Given the description of an element on the screen output the (x, y) to click on. 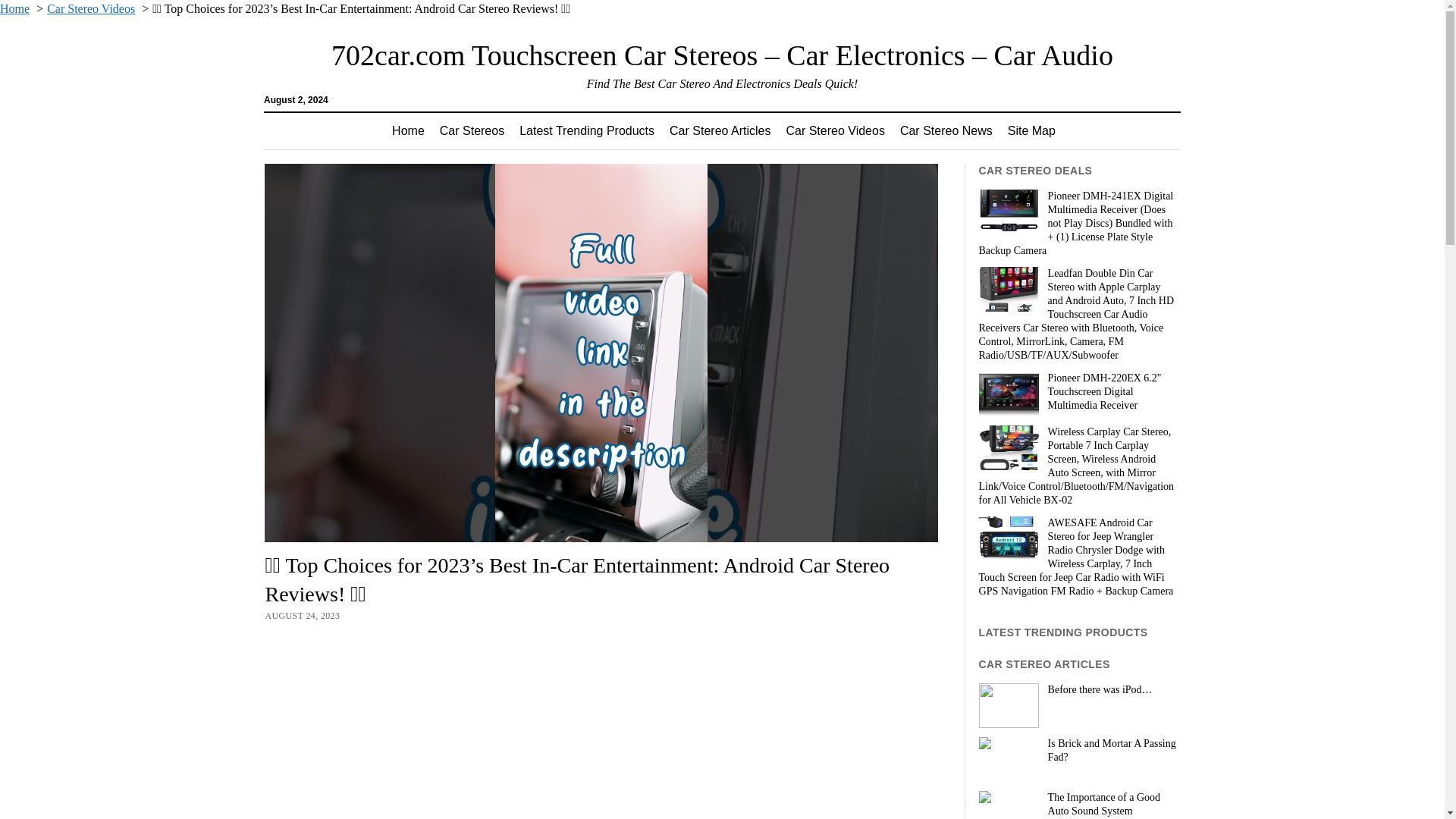
Home (14, 8)
Car Stereos (471, 131)
Car Stereo Videos (90, 8)
Latest Trending Products (587, 131)
Car Stereo Videos (834, 131)
Home (407, 131)
Car Stereo News (946, 131)
Car Stereo Articles (719, 131)
Site Map (1031, 131)
